Given the description of an element on the screen output the (x, y) to click on. 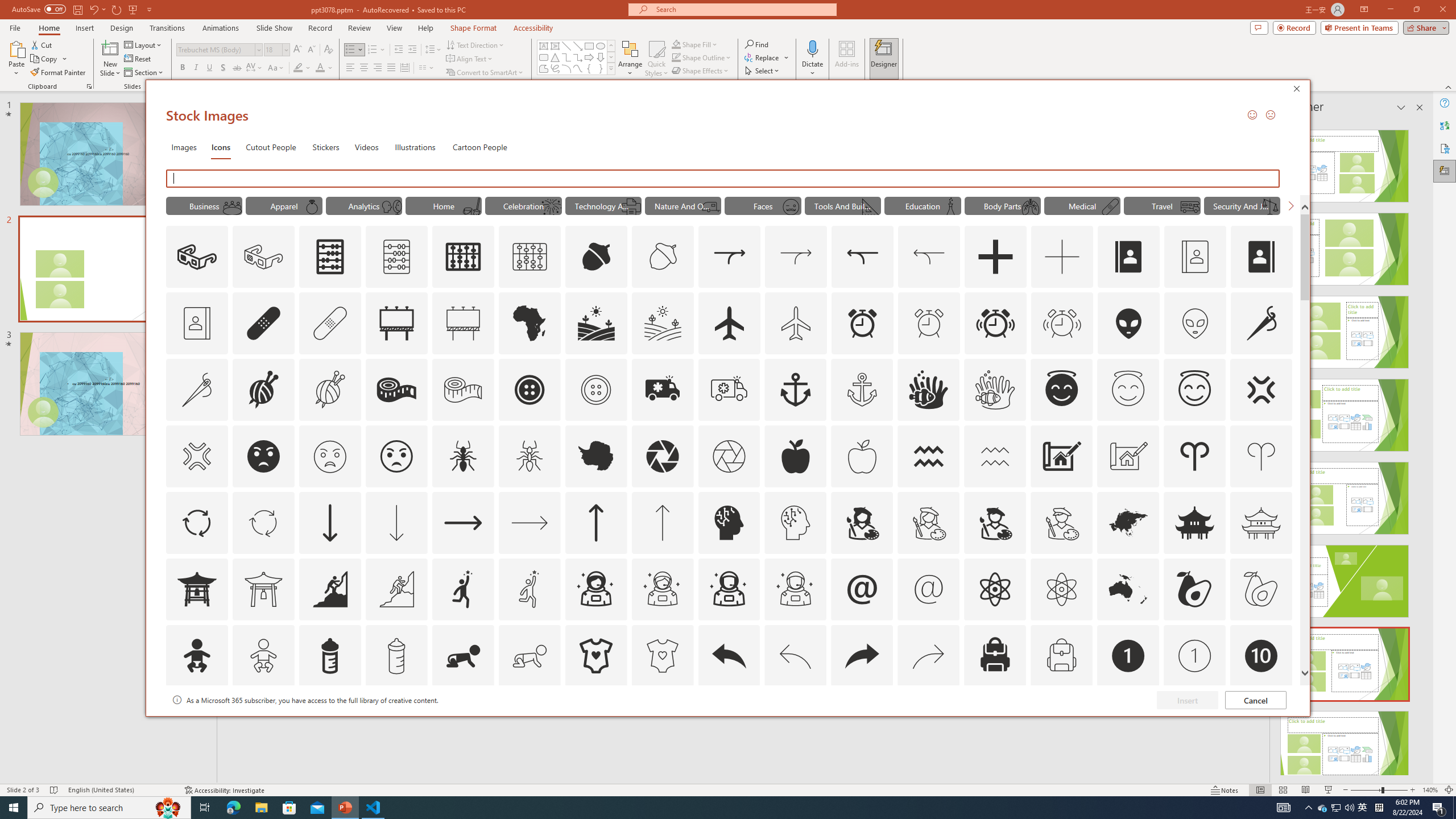
Cutout People (271, 146)
AutomationID: Icons_Badge5_M (729, 721)
AutomationID: Icons_AdhesiveBandage_M (330, 323)
Shape Fill Dark Green, Accent 2 (675, 44)
Columns (426, 67)
AutomationID: Icons_Ambulance_M (729, 389)
